Given the description of an element on the screen output the (x, y) to click on. 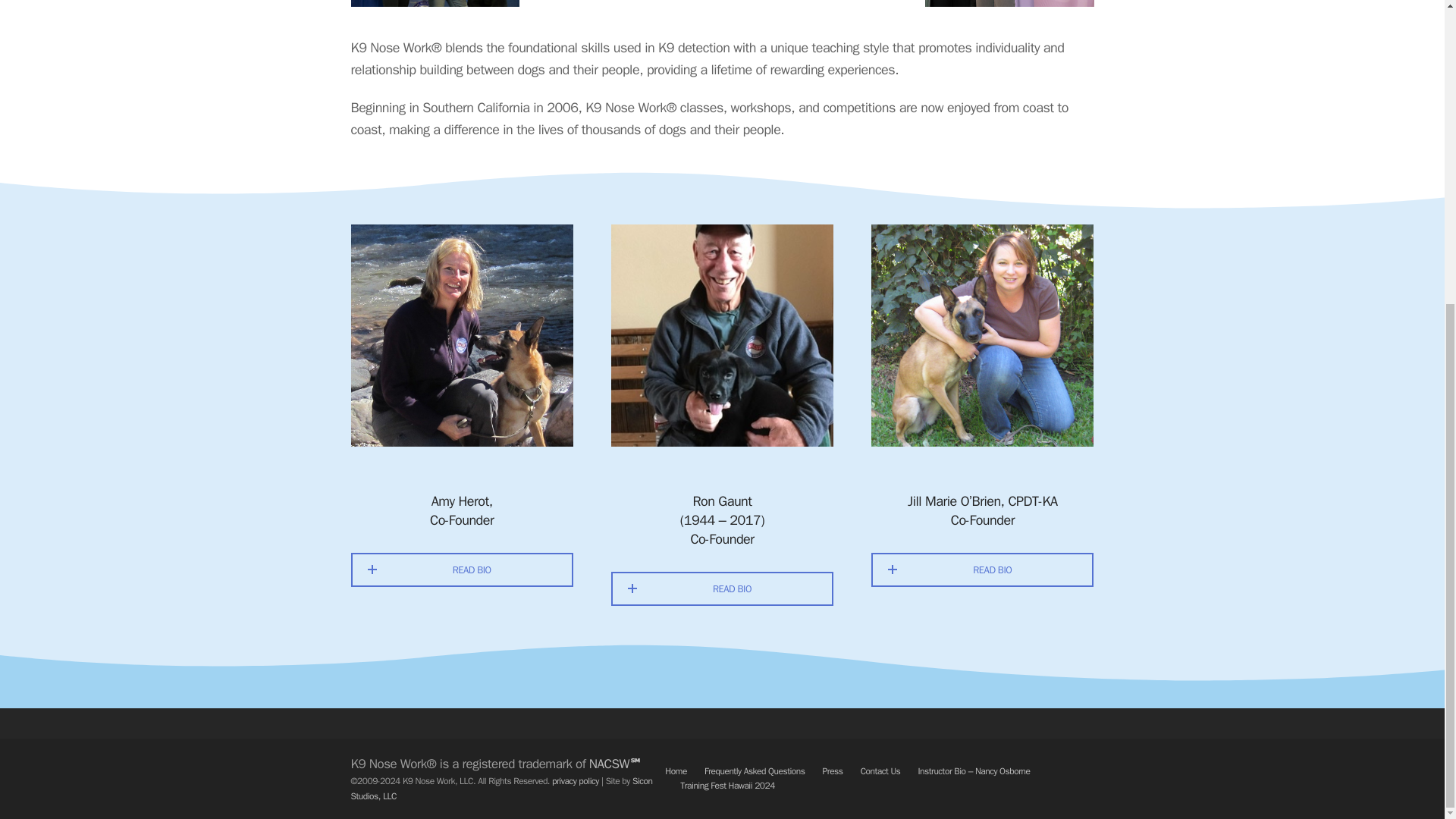
kn-nose-work-amy-and-jill (1009, 3)
kn-nose-work-amy-jill-and-ron-founders (434, 3)
ron-gaunt-co-founder (721, 335)
READ BIO (982, 569)
READ BIO (461, 569)
k9-nose-work-founder-jill-marie (981, 335)
k9-nose-work-founder-amy-herot (461, 335)
READ BIO (721, 588)
